Given the description of an element on the screen output the (x, y) to click on. 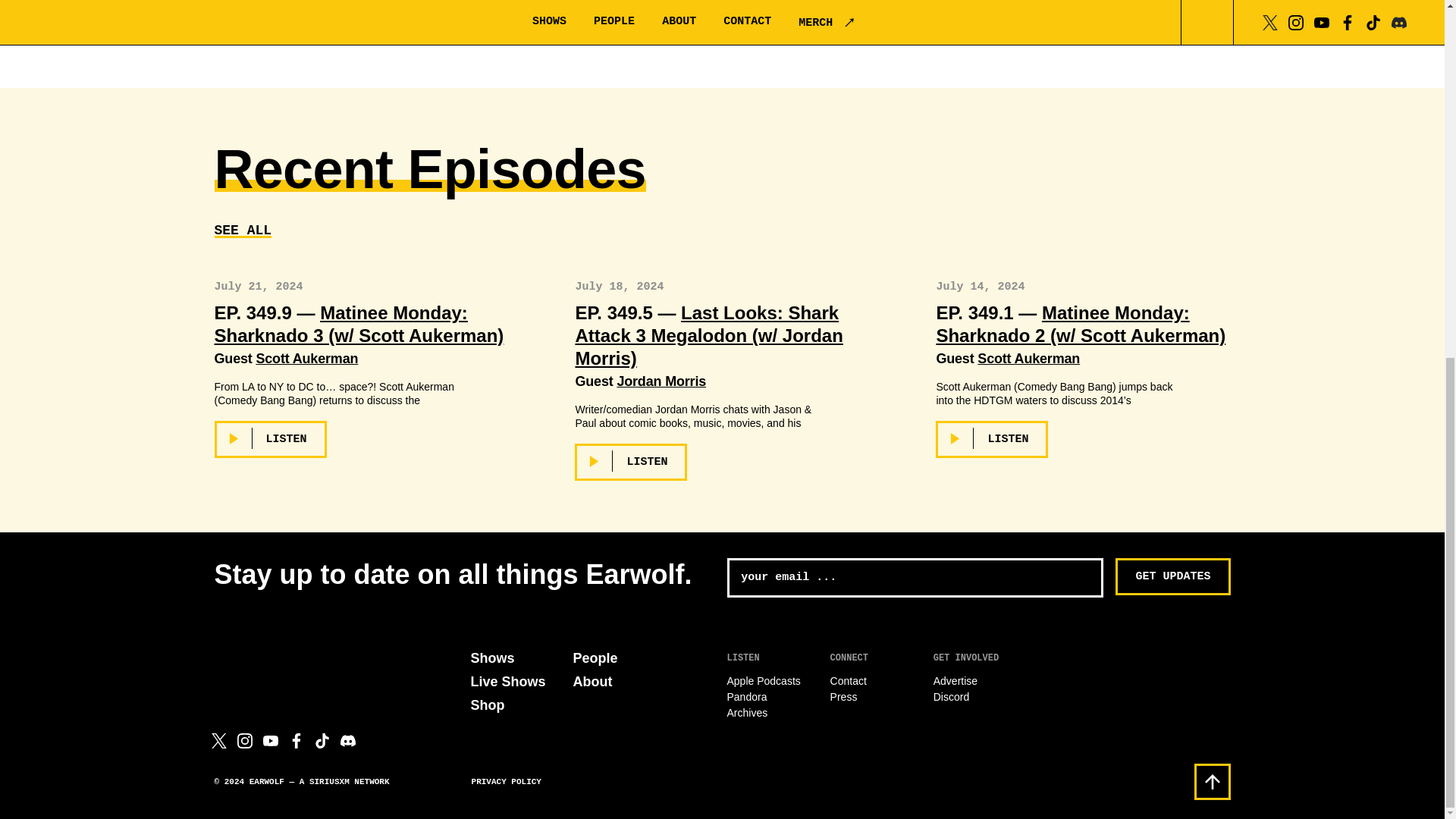
LISTEN (270, 438)
SEE ALL (242, 230)
Earwolf (283, 658)
Get Updates (1172, 576)
Scott Aukerman (307, 358)
